Given the description of an element on the screen output the (x, y) to click on. 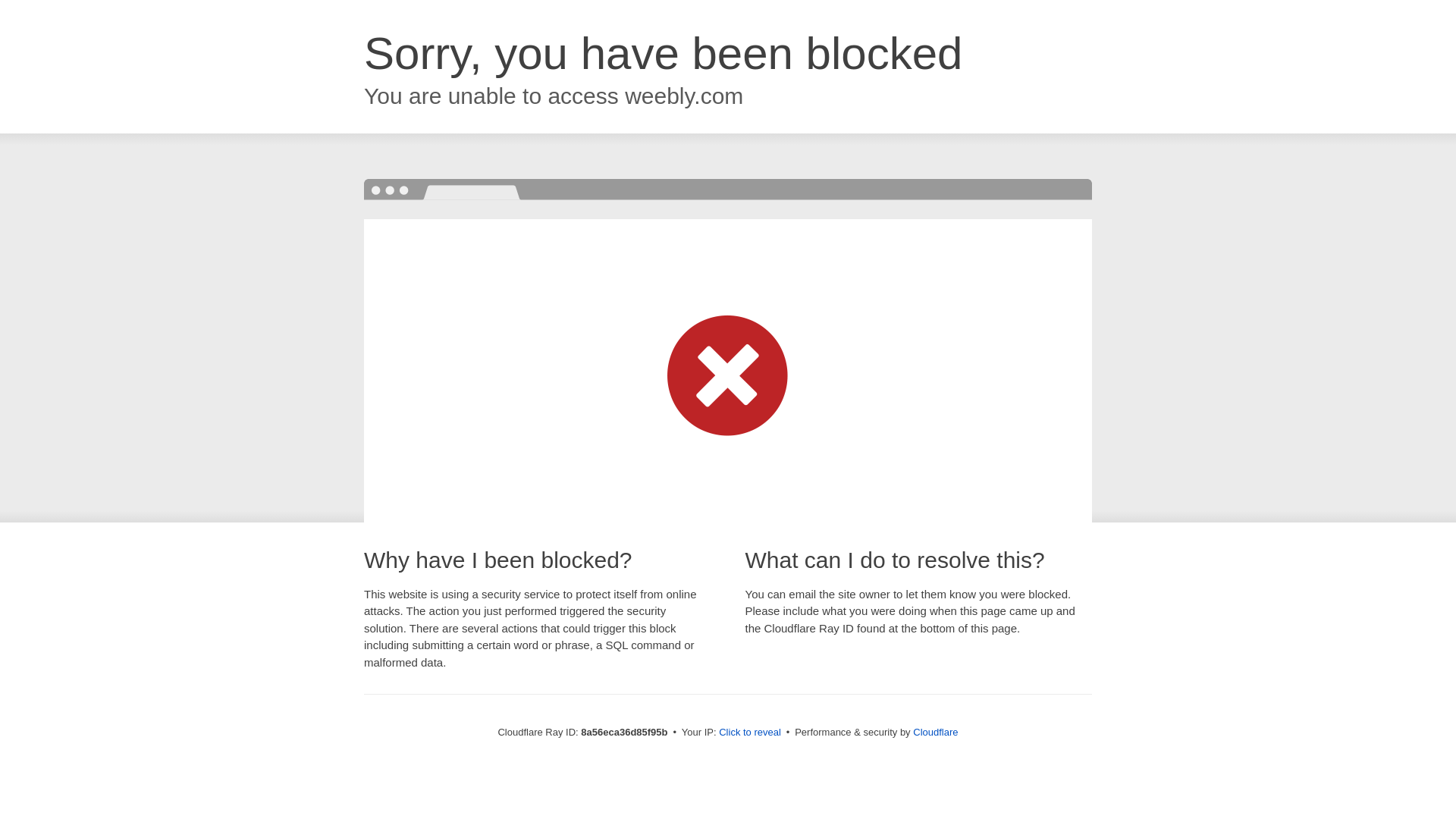
Cloudflare (935, 731)
Click to reveal (749, 732)
